Given the description of an element on the screen output the (x, y) to click on. 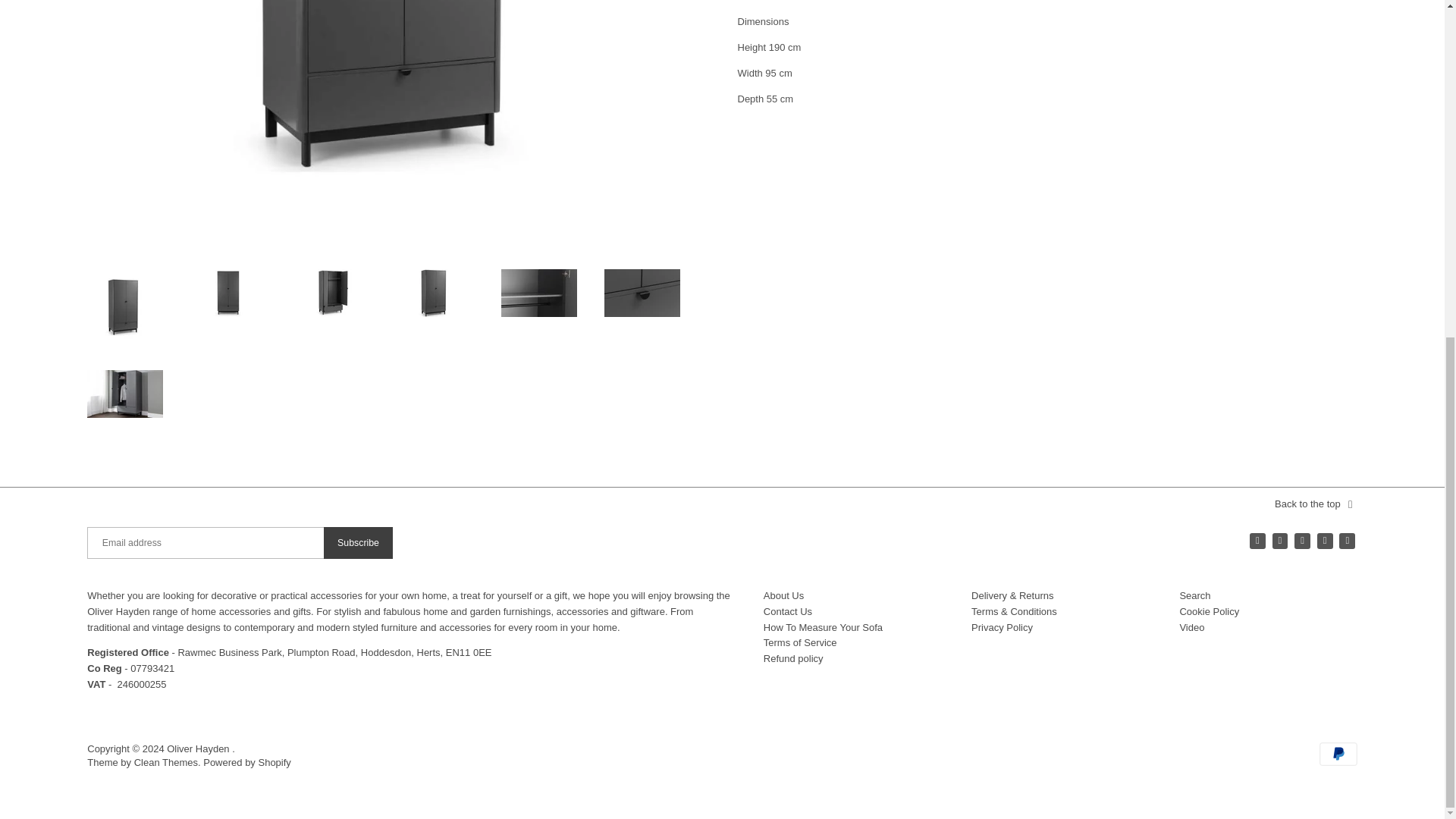
Grayson Wardrobe (331, 292)
Grayson Wardrobe (435, 292)
Grayson Wardrobe (641, 292)
Grayson Wardrobe (125, 306)
Grayson Wardrobe (228, 292)
Twitter (1257, 540)
Grayson Wardrobe (125, 393)
Grayson Wardrobe (538, 292)
Subscribe (358, 542)
